Given the description of an element on the screen output the (x, y) to click on. 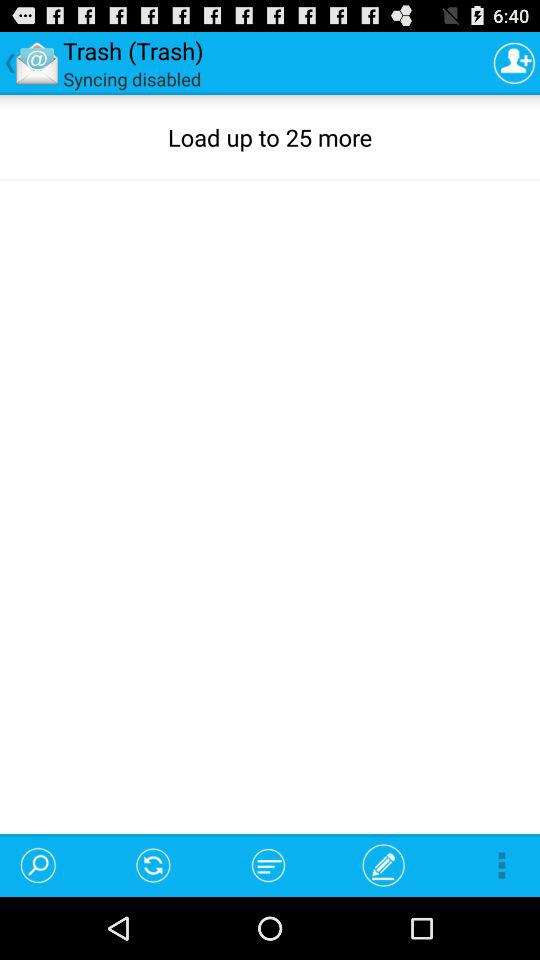
select a group (514, 62)
